Given the description of an element on the screen output the (x, y) to click on. 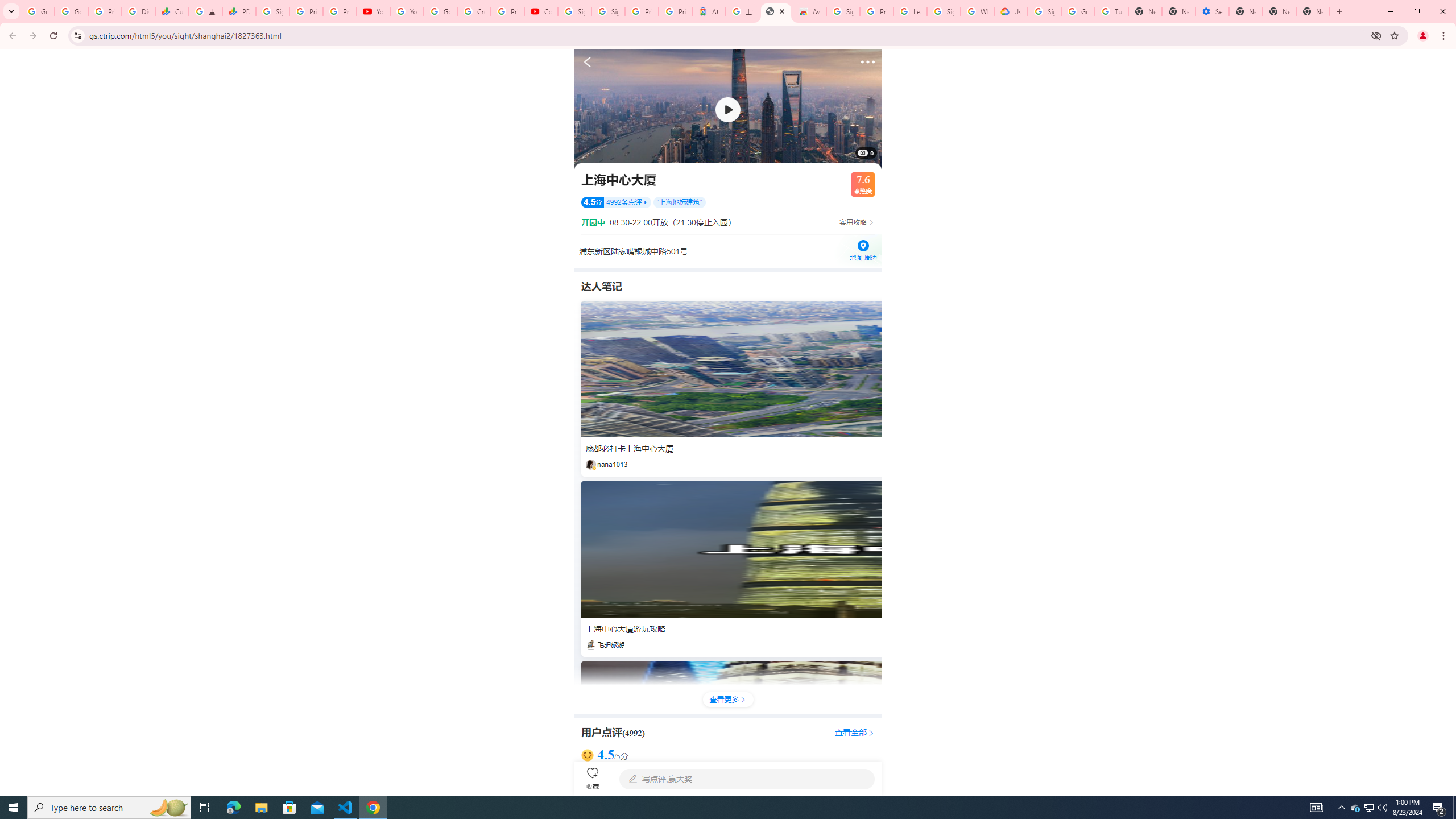
Content Creator Programs & Opportunities - YouTube Creators (541, 11)
Sign in - Google Accounts (272, 11)
Privacy Checkup (339, 11)
Sign in - Google Accounts (842, 11)
Who are Google's partners? - Privacy and conditions - Google (976, 11)
Awesome Screen Recorder & Screenshot - Chrome Web Store (809, 11)
New Tab (1246, 11)
Atour Hotel - Google hotels (708, 11)
